Given the description of an element on the screen output the (x, y) to click on. 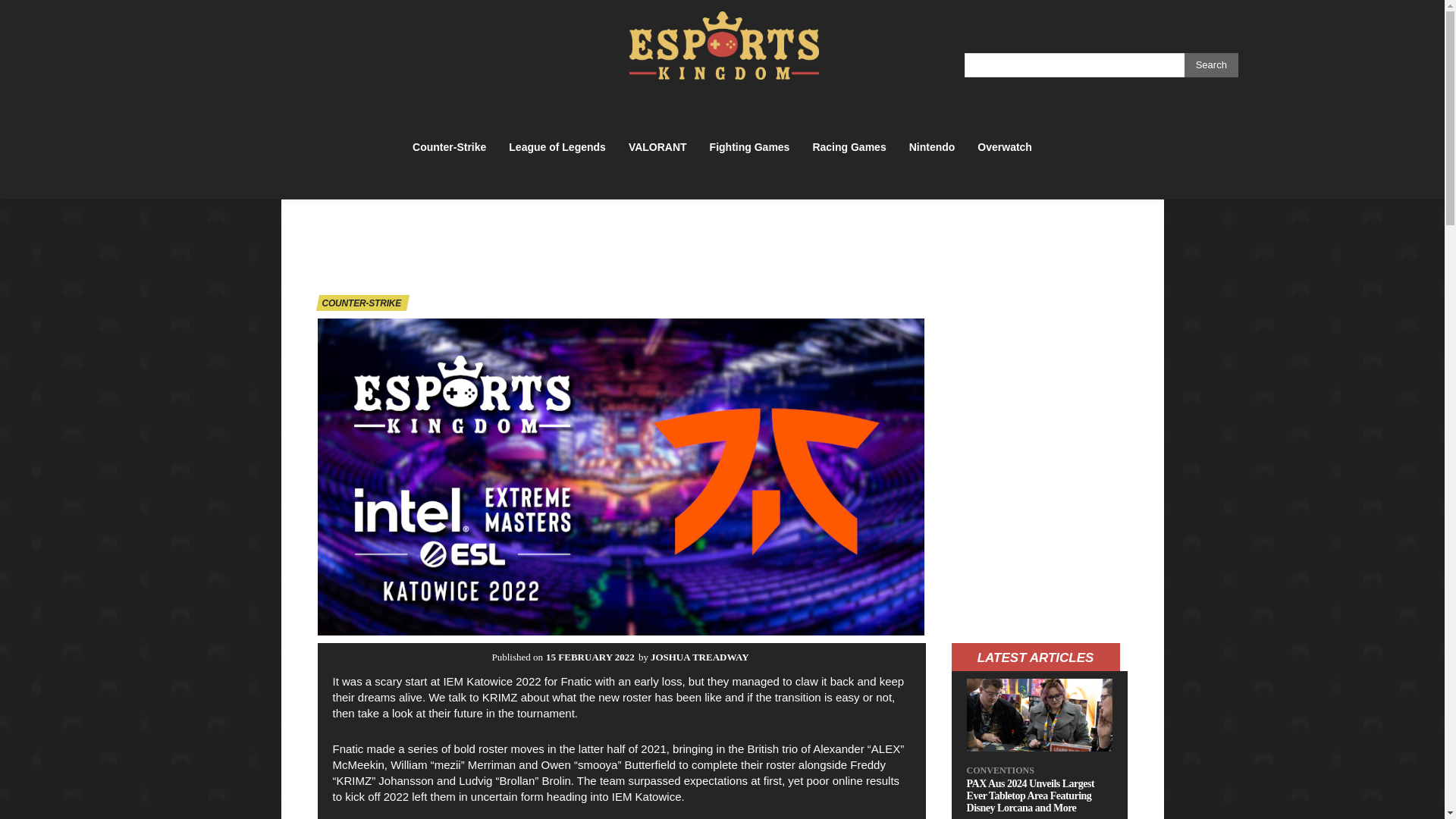
Overwatch (1004, 146)
League of Legends (556, 146)
Nintendo (931, 146)
Counter-Strike (448, 146)
JOSHUA TREADWAY (699, 657)
Fighting Games (749, 146)
VALORANT (657, 146)
Search (1212, 64)
